Given the description of an element on the screen output the (x, y) to click on. 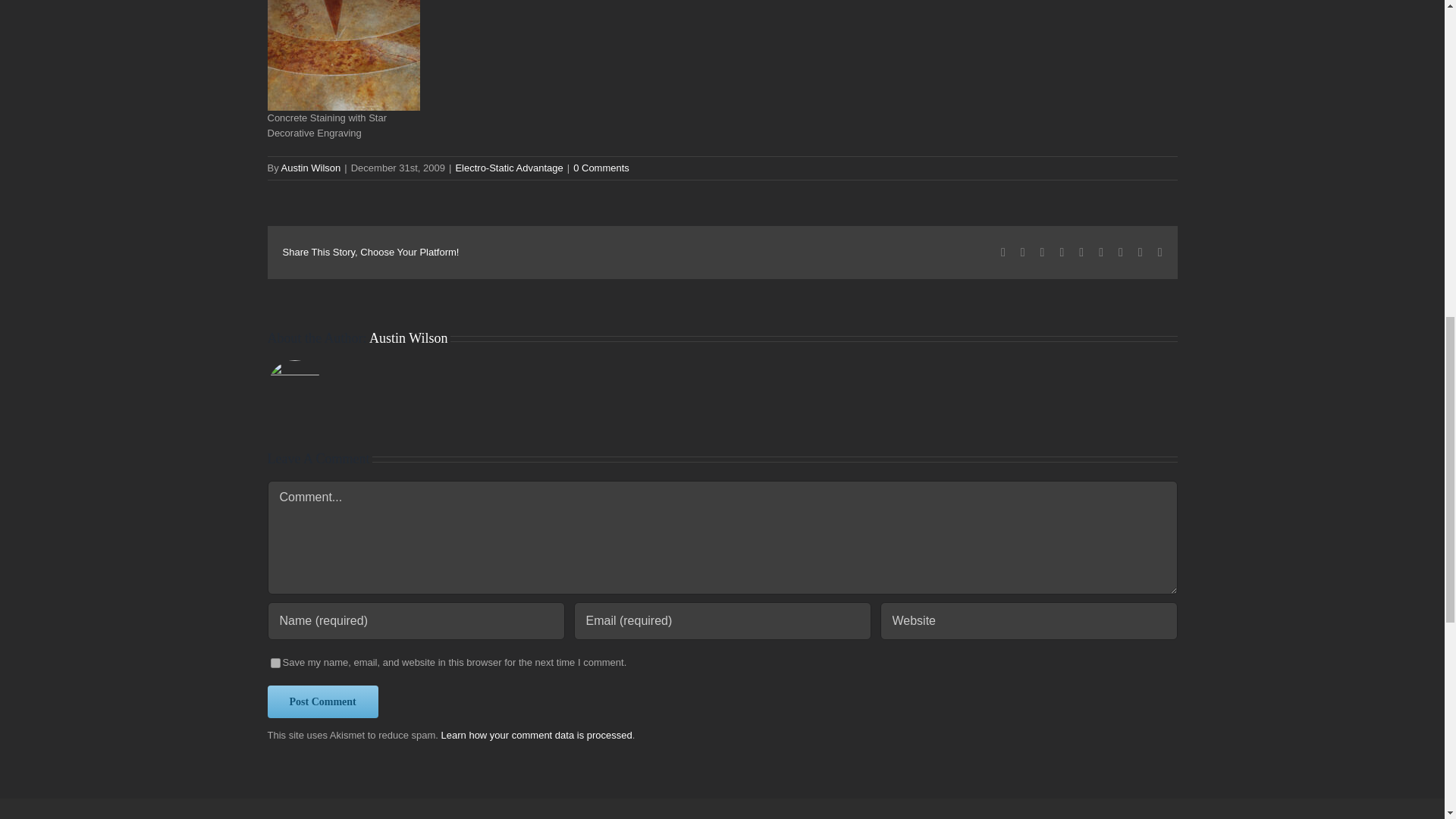
Austin Wilson (310, 167)
custom-star-logo-decorative-stained-concrete (342, 55)
Posts by Austin Wilson (310, 167)
yes (274, 663)
Post Comment (321, 701)
Electro-Static Advantage (508, 167)
0 Comments (600, 167)
